Given the description of an element on the screen output the (x, y) to click on. 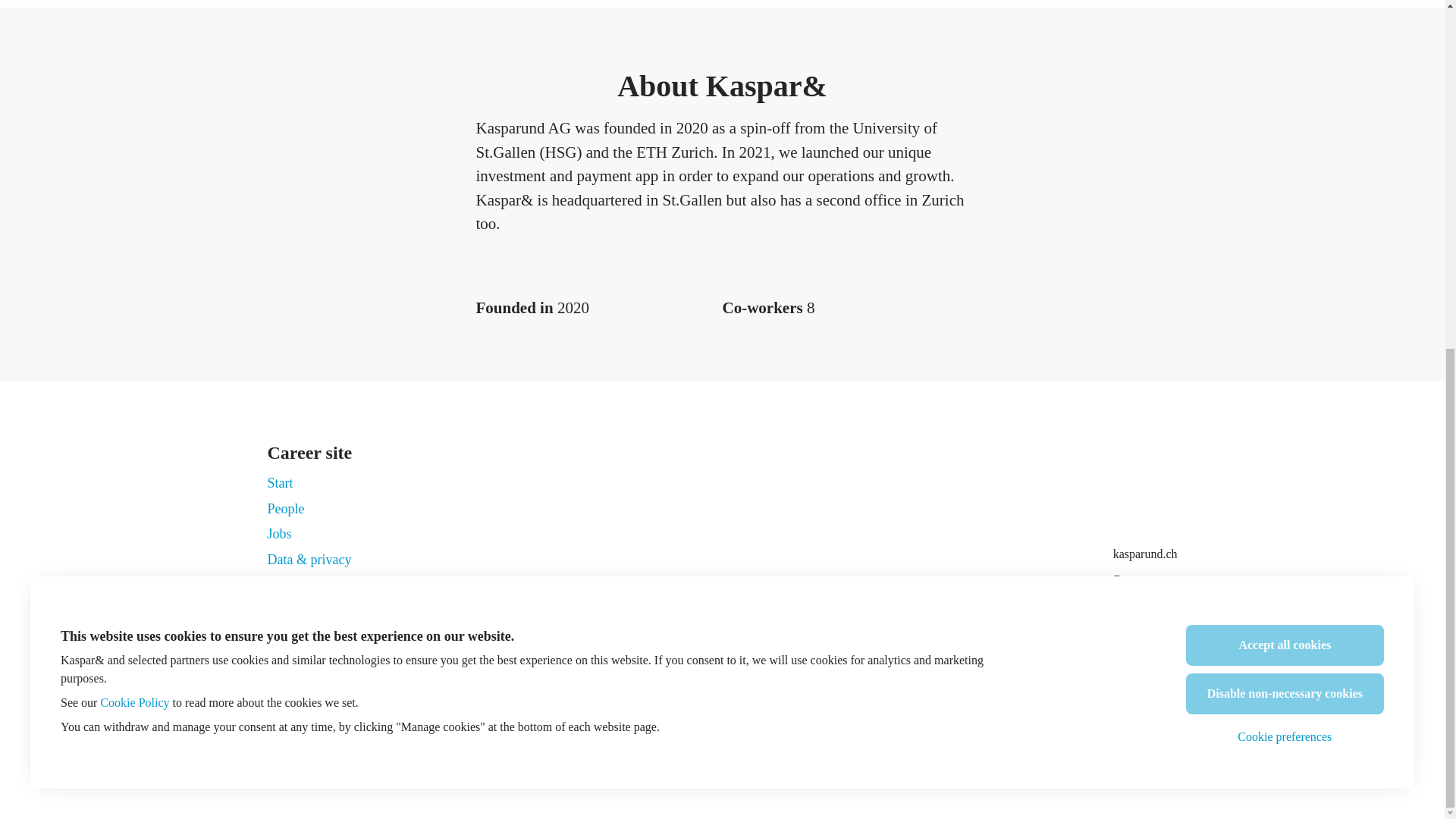
Candidate Connect login (1116, 682)
facebook (1115, 585)
Cookie Policy (134, 99)
Start (279, 482)
kasparund.ch (1145, 554)
Jobs (278, 533)
Manage cookies (310, 589)
Cookie preferences (1284, 133)
Employee login (304, 682)
People (285, 508)
Disable non-necessary cookies (1285, 90)
Accept all cookies (1285, 42)
Employer branding by Teamtailor (721, 760)
